Given the description of an element on the screen output the (x, y) to click on. 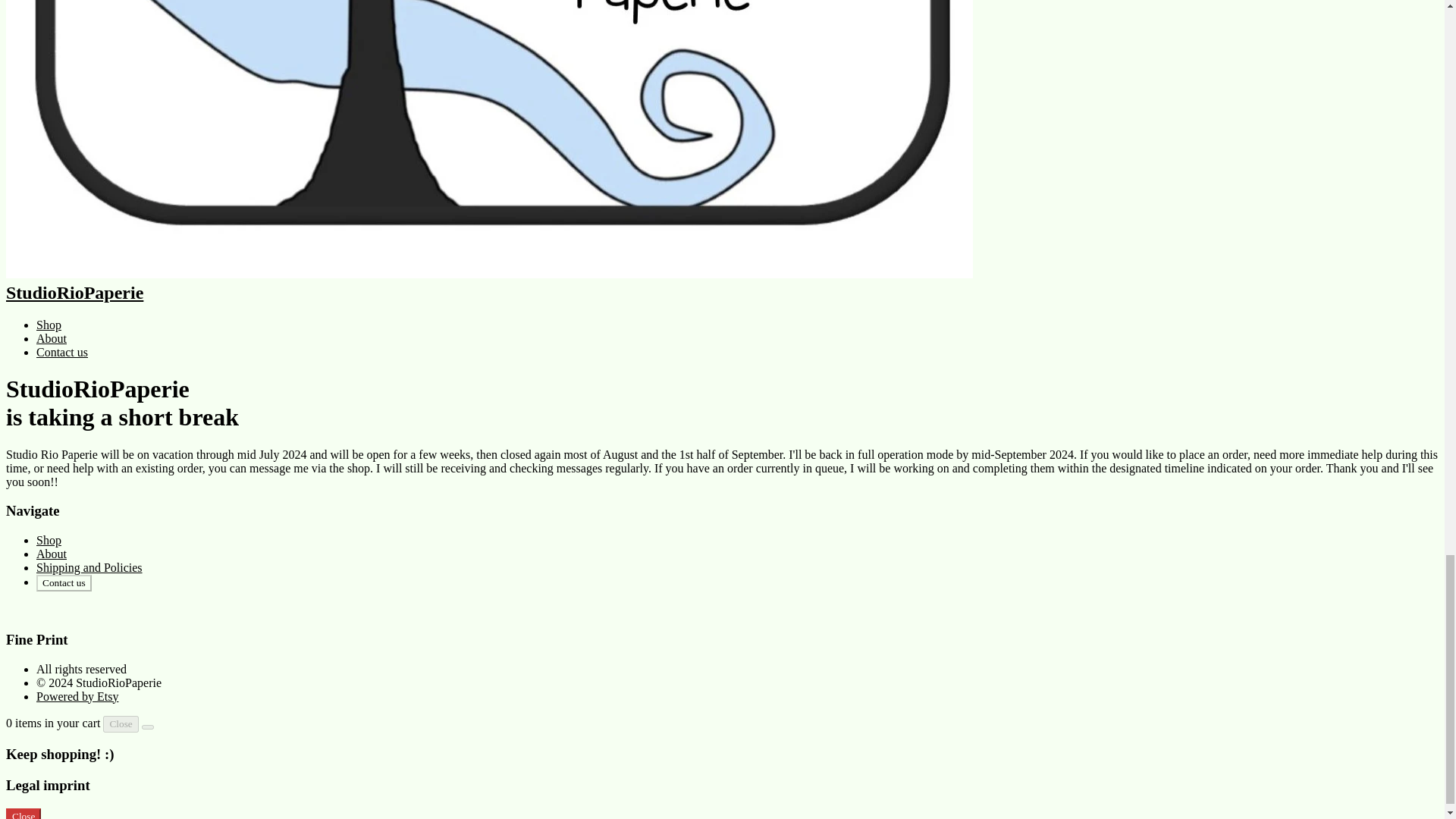
Close (120, 723)
Contact us (61, 351)
Shop (48, 540)
Shop (48, 324)
Powered by Etsy (76, 696)
Shipping and Policies (89, 567)
About (51, 338)
About (51, 553)
Contact us (63, 582)
